Given the description of an element on the screen output the (x, y) to click on. 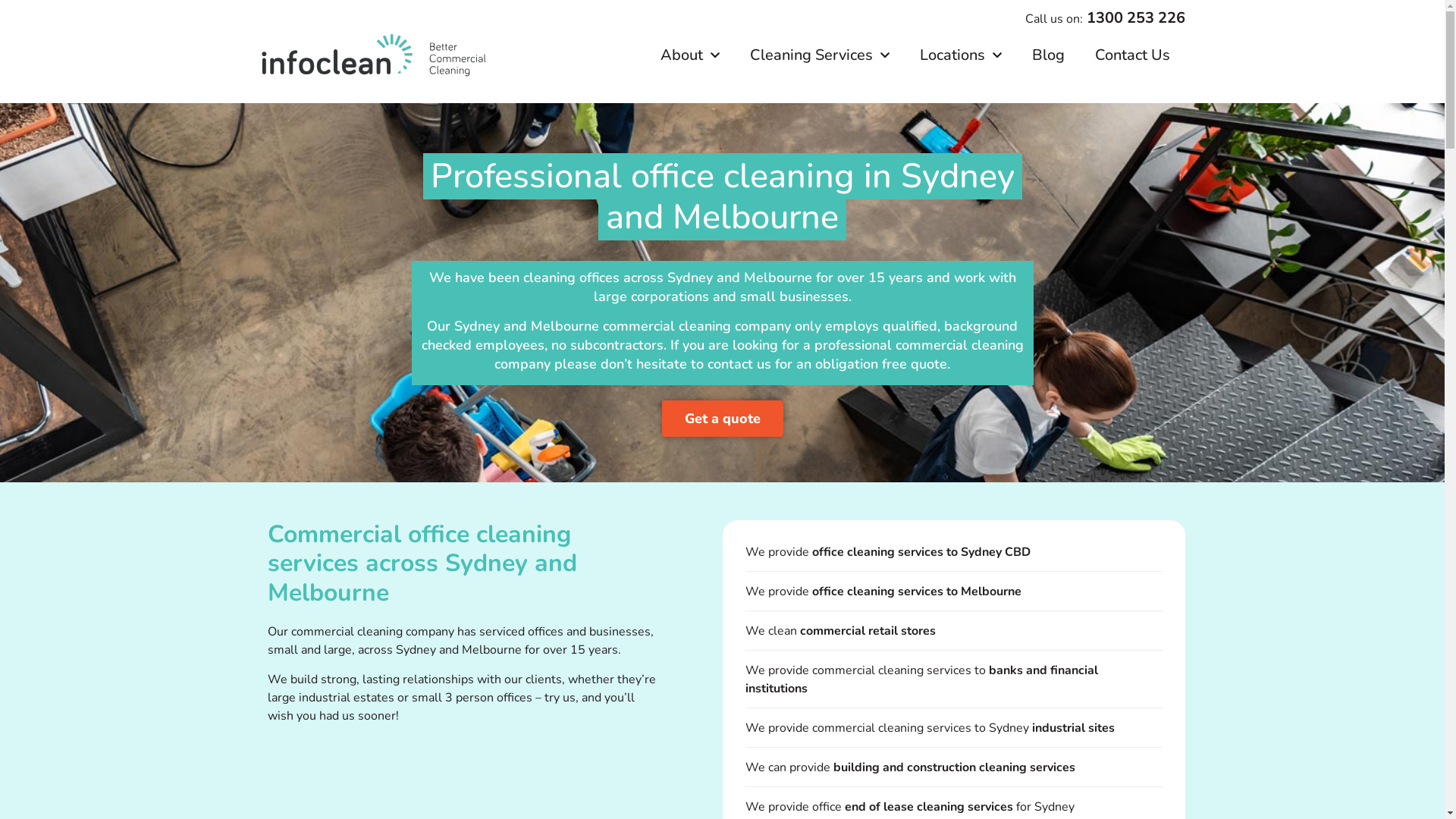
Blog Element type: text (1047, 54)
Locations Element type: text (959, 54)
About Element type: text (689, 54)
Get a quote Element type: text (721, 418)
Cleaning Services Element type: text (818, 54)
1300 253 226 Element type: text (1134, 17)
Contact Us Element type: text (1132, 54)
